Given the description of an element on the screen output the (x, y) to click on. 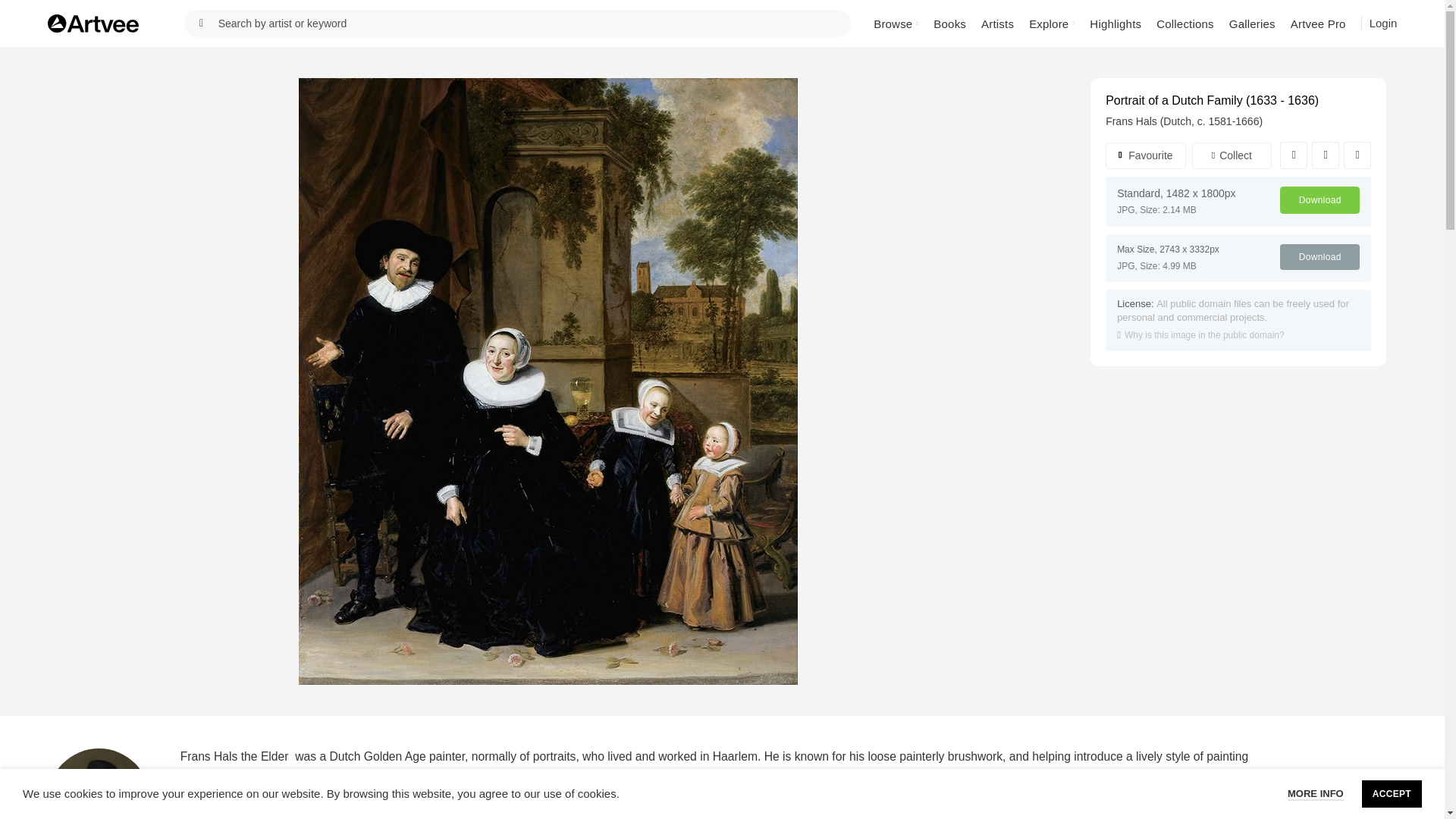
Download (1319, 199)
SEARCH (201, 22)
Favourite (1145, 155)
Artvee Pro (1318, 23)
Twitter (1325, 154)
Login (1383, 22)
Explore (1051, 23)
Highlights (1114, 23)
Frans Hals (98, 783)
Artists (998, 23)
Pinterest (1357, 154)
Facebook (1293, 154)
Browse (896, 23)
Download (1319, 257)
Books (950, 23)
